Given the description of an element on the screen output the (x, y) to click on. 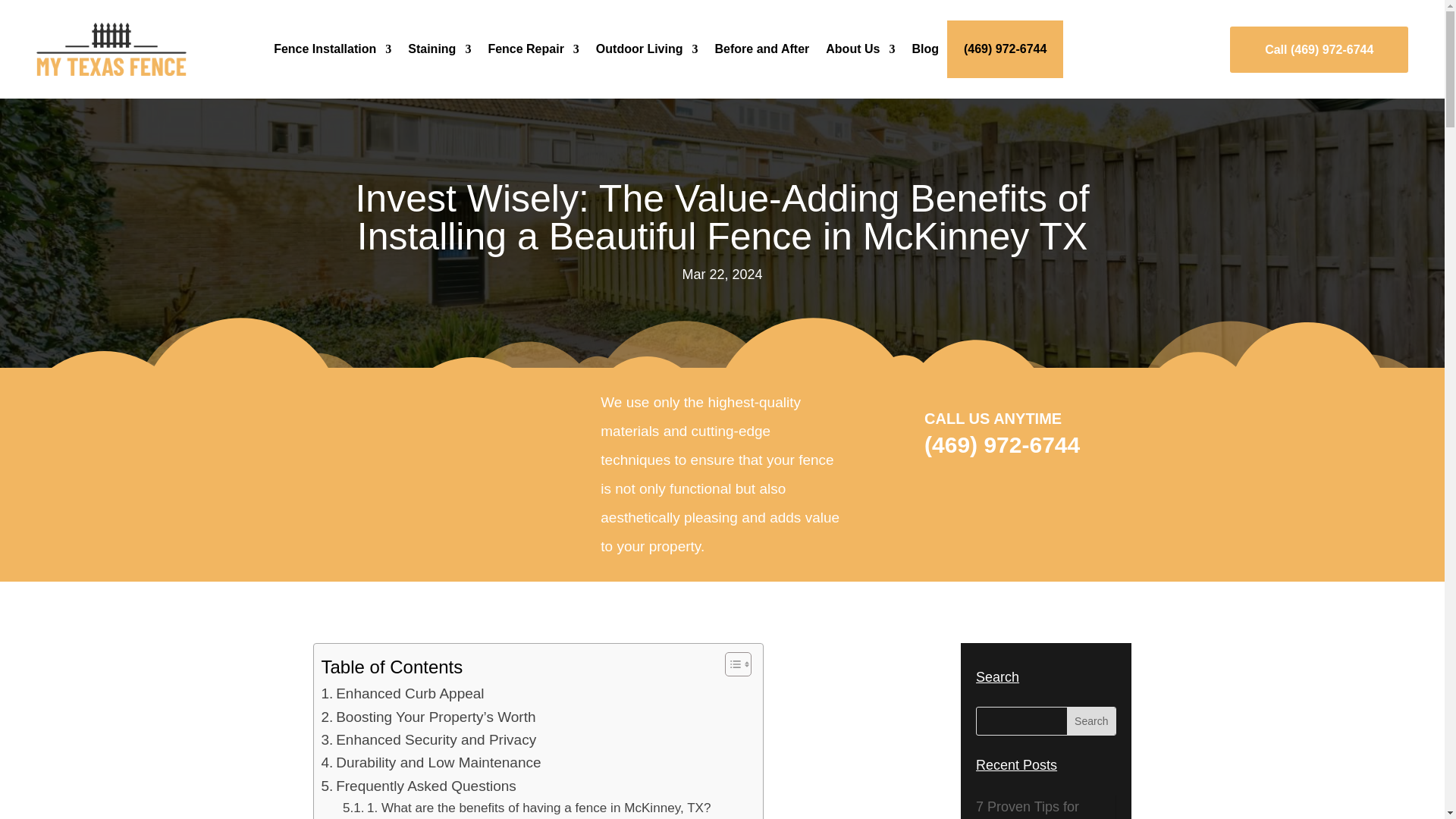
Enhanced Curb Appeal (402, 693)
Durability and Low Maintenance (431, 762)
Search (1091, 720)
Frequently Asked Questions (418, 785)
Fence Repair (532, 48)
Enhanced Security and Privacy (429, 739)
Fence Installation (332, 48)
Staining (438, 48)
1. What are the benefits of having a fence in McKinney, TX? (526, 807)
Outdoor Living (646, 48)
